Given the description of an element on the screen output the (x, y) to click on. 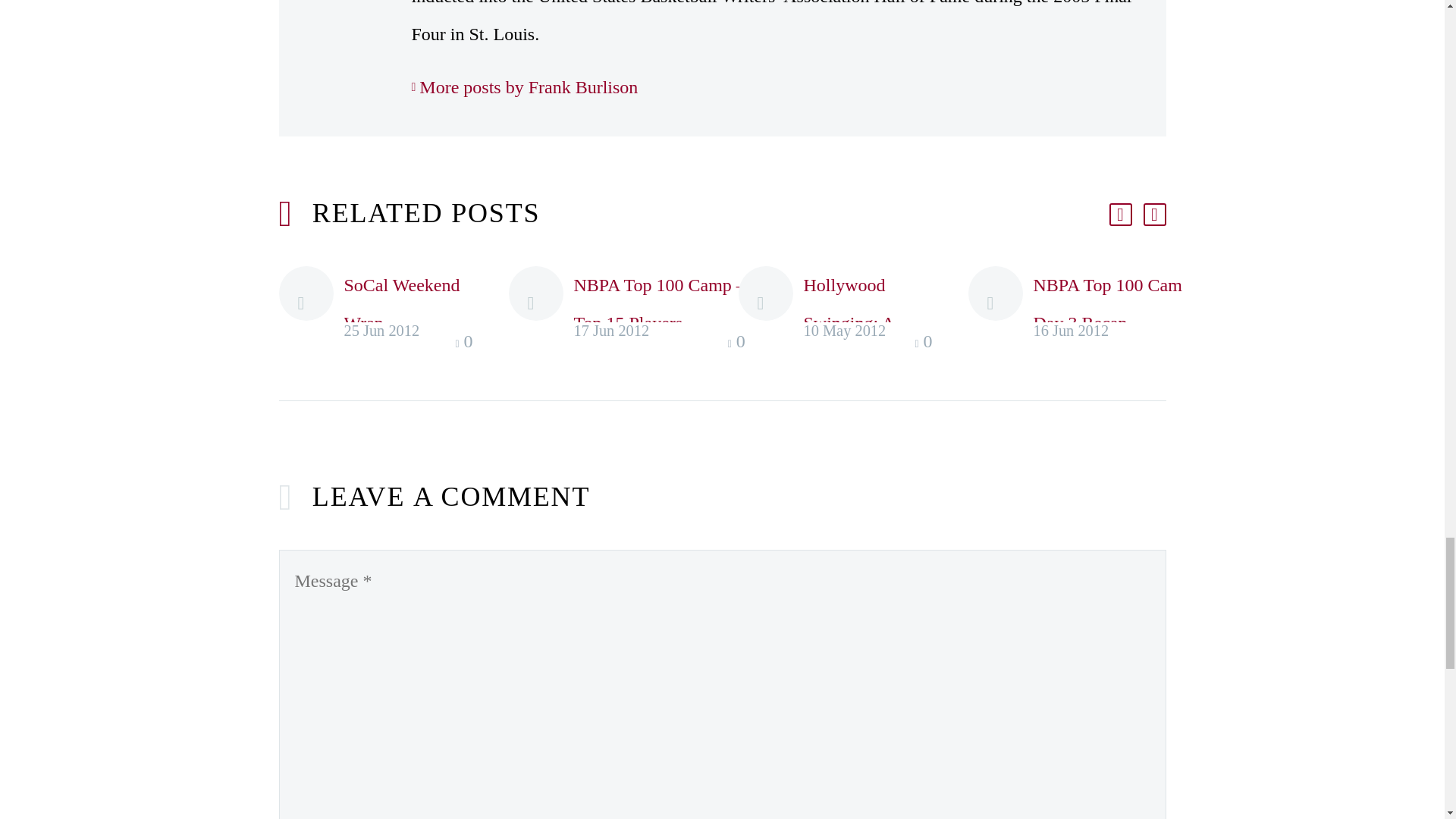
SoCal Weekend Wrap (401, 303)
0 (465, 342)
0 (738, 342)
More posts by Frank Burlison (523, 86)
